Given the description of an element on the screen output the (x, y) to click on. 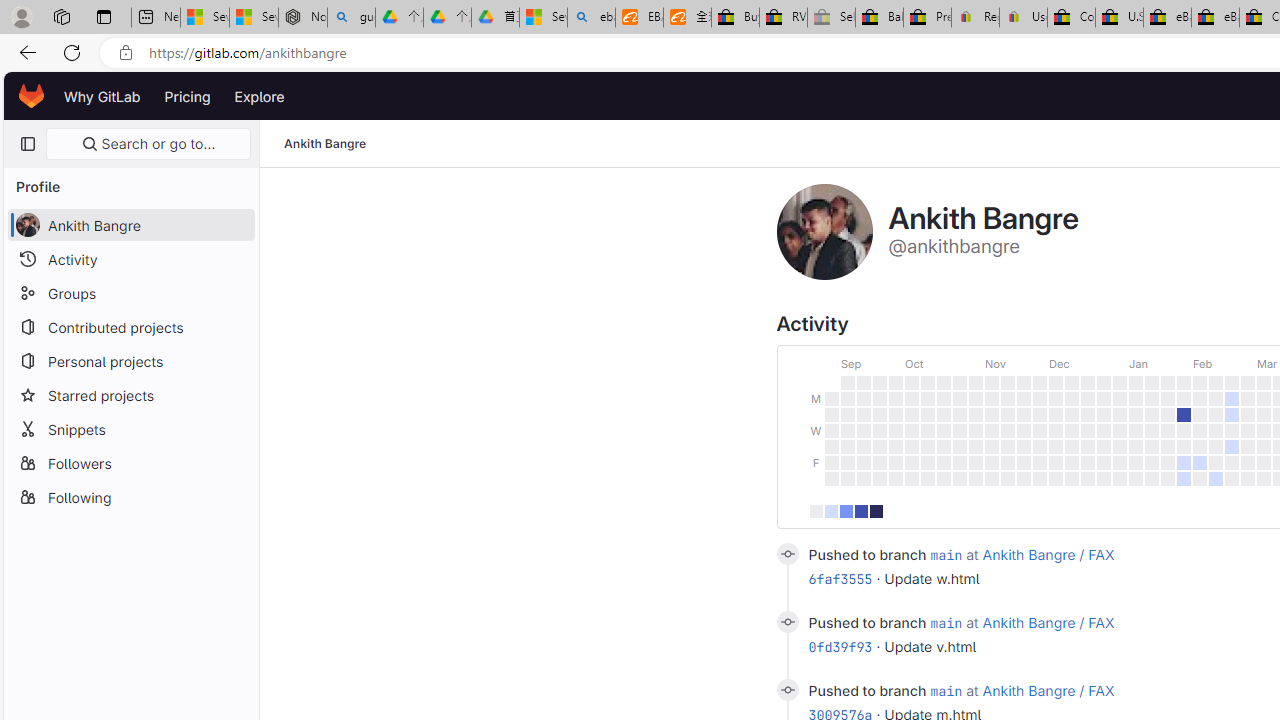
User Privacy Notice | eBay (1023, 17)
